Given the description of an element on the screen output the (x, y) to click on. 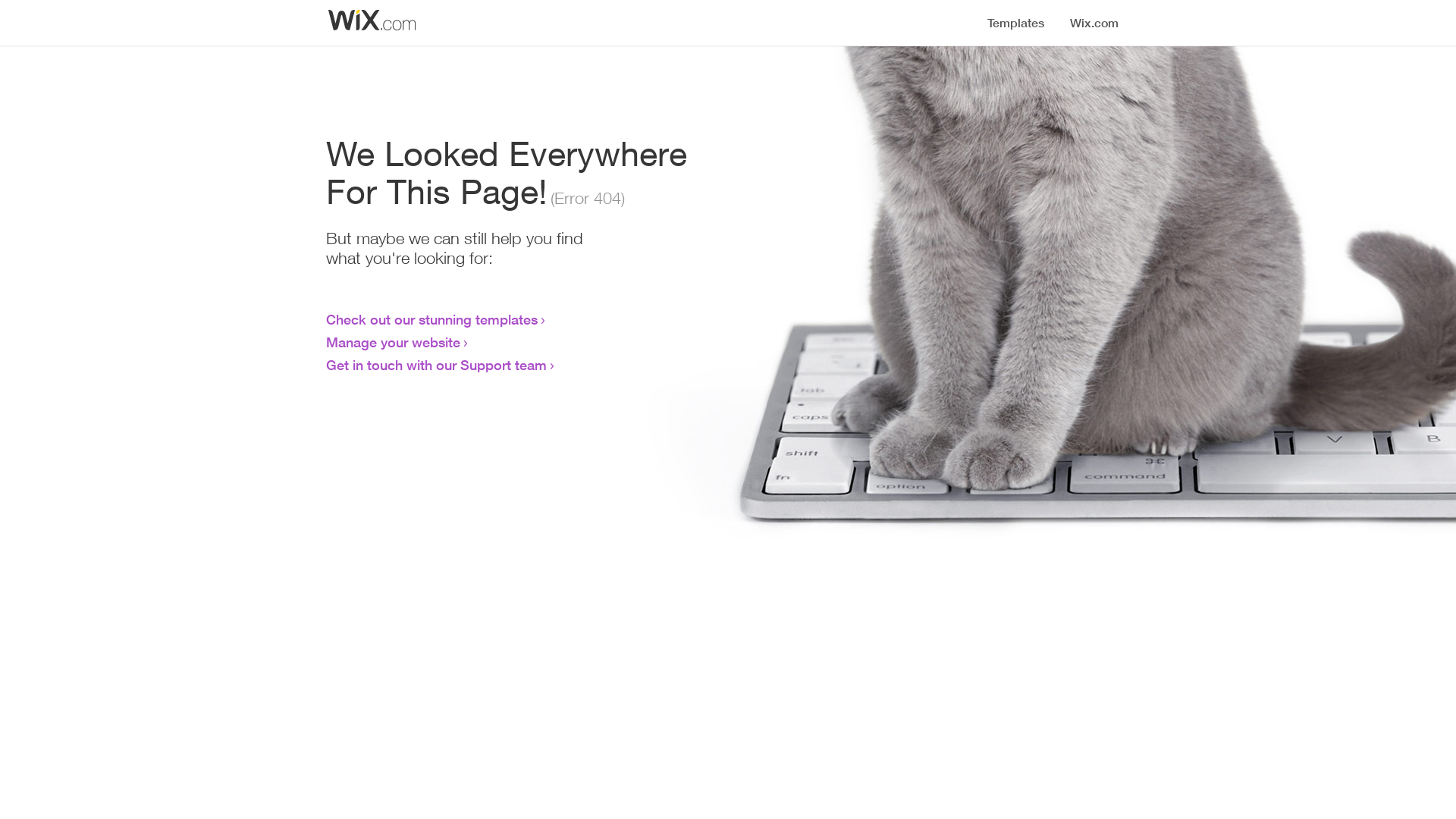
Manage your website Element type: text (393, 341)
Check out our stunning templates Element type: text (431, 318)
Get in touch with our Support team Element type: text (436, 364)
